Given the description of an element on the screen output the (x, y) to click on. 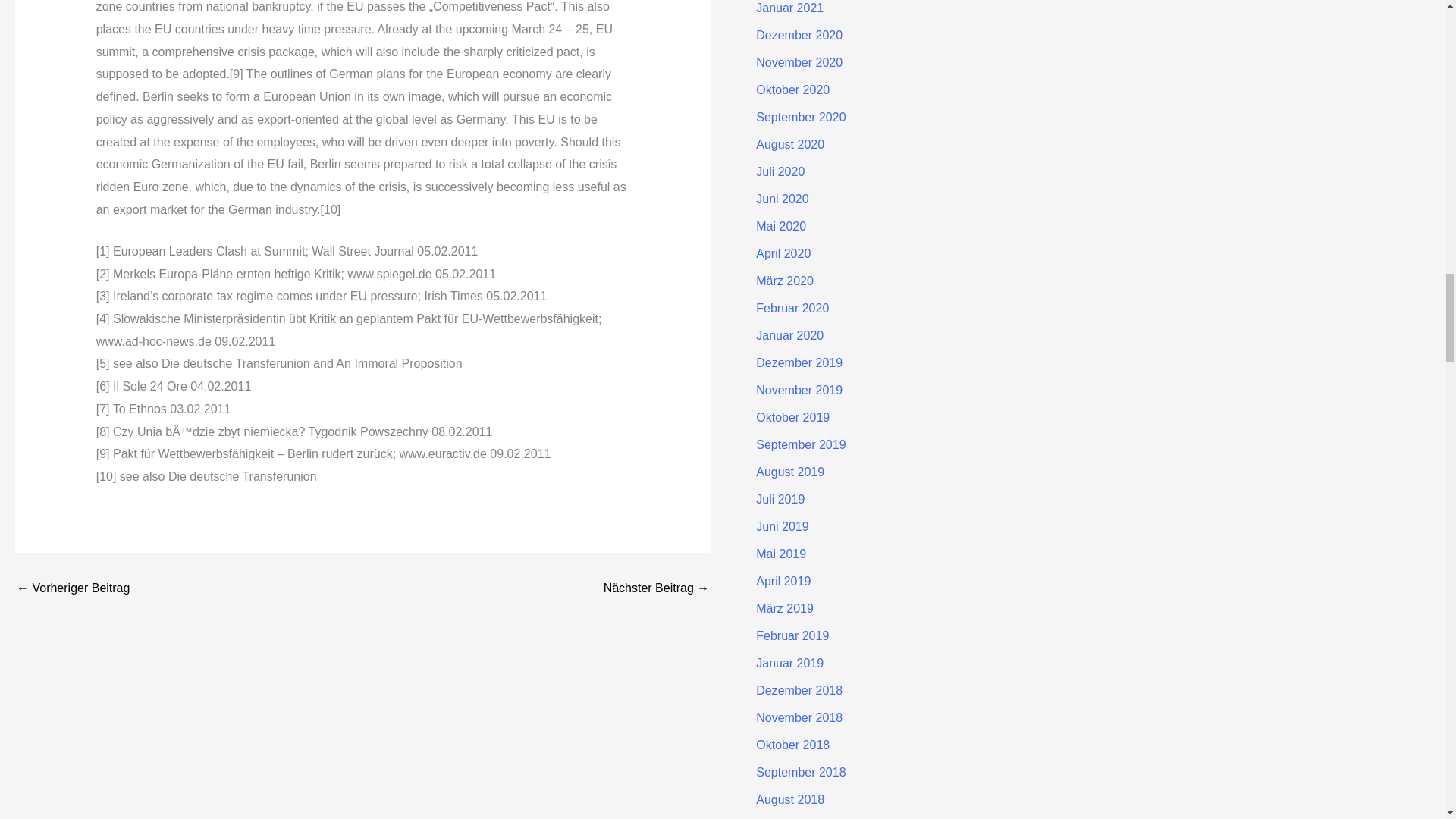
Berlin will deutsches Europa (72, 588)
